Given the description of an element on the screen output the (x, y) to click on. 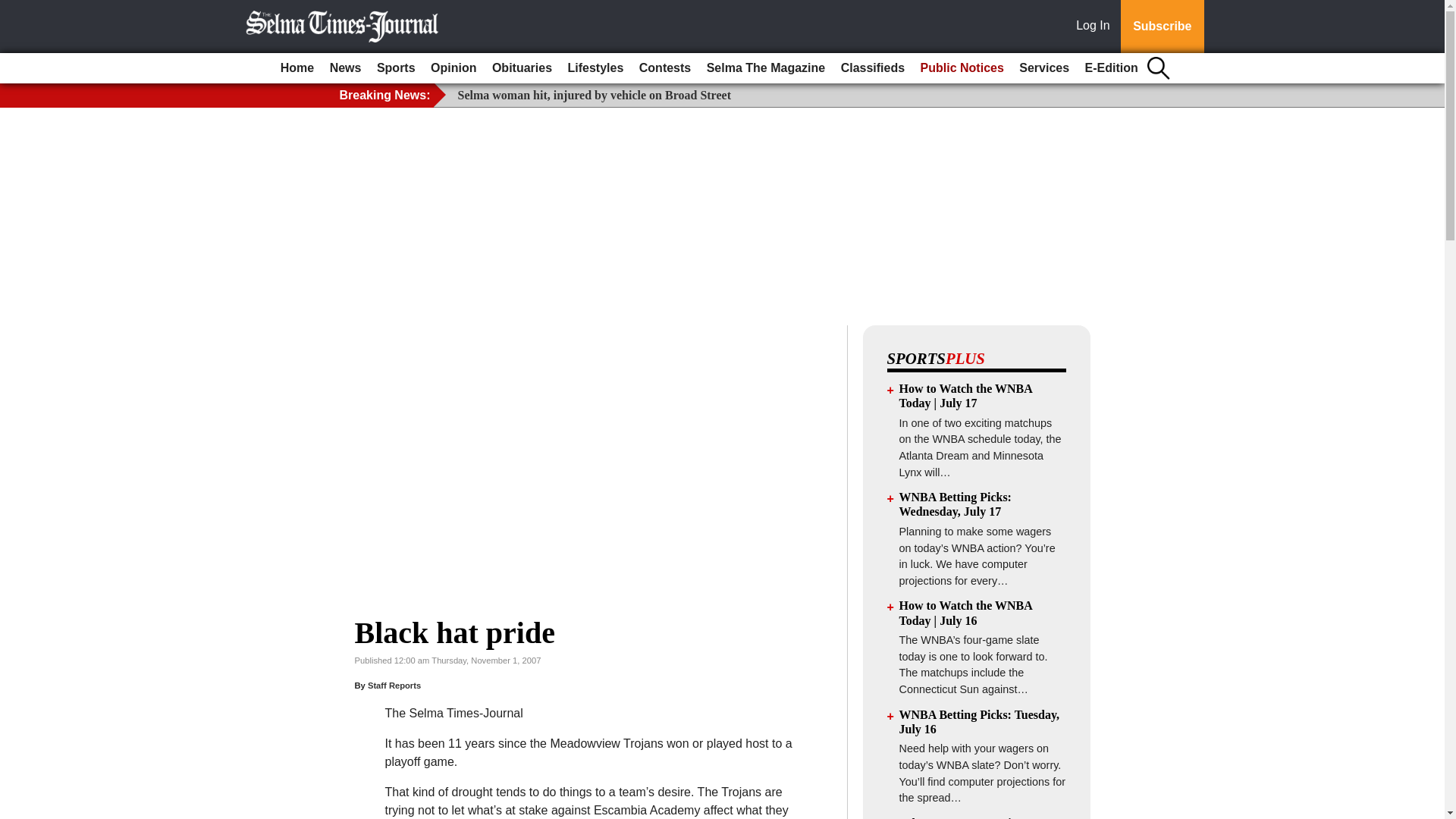
Contests (665, 68)
Selma woman hit, injured by vehicle on Broad Street (594, 94)
Selma The Magazine (765, 68)
Sports (396, 68)
WNBA Betting Picks: Wednesday, July 17 (955, 503)
Log In (1095, 26)
Opinion (453, 68)
WNBA Betting Picks: Tuesday, July 16 (979, 721)
Home (297, 68)
Subscribe (1162, 26)
News (345, 68)
Classifieds (872, 68)
Lifestyles (596, 68)
E-Edition (1111, 68)
Staff Reports (394, 685)
